Given the description of an element on the screen output the (x, y) to click on. 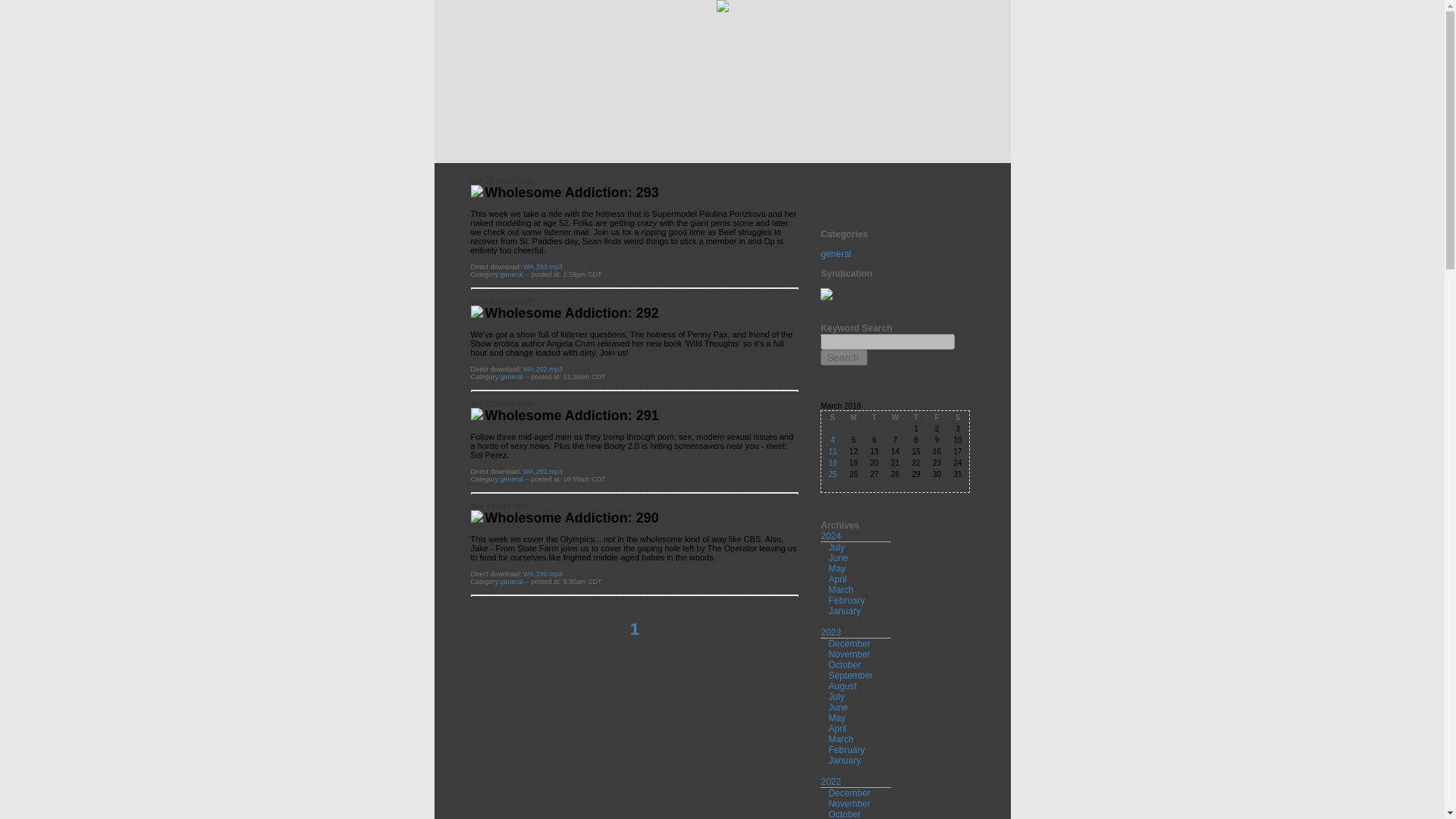
June (837, 706)
WA.292.mp3 (542, 369)
September (850, 675)
Wholesome Addiction: 293 (571, 192)
25 (832, 474)
Search  (844, 357)
April (836, 579)
general (511, 479)
general (511, 376)
February (846, 600)
Wholesome Addiction: 290 (571, 517)
Sunday (831, 417)
2024 (831, 535)
Tuesday (873, 417)
May (836, 568)
